Given the description of an element on the screen output the (x, y) to click on. 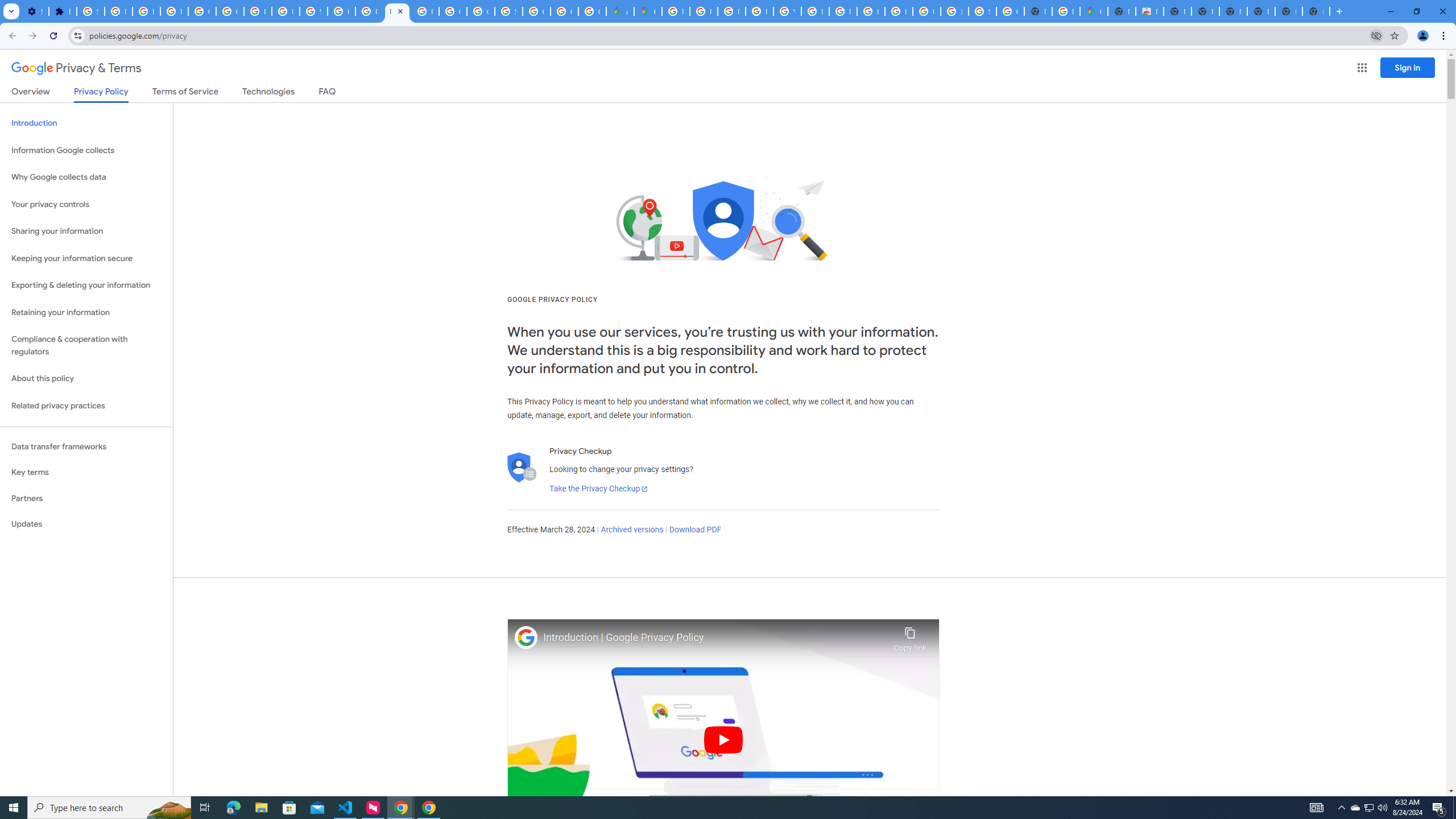
Google Account Help (202, 11)
Sign in - Google Accounts (982, 11)
Copy link (909, 636)
Play (723, 739)
Partners (86, 497)
Browse Chrome as a guest - Computer - Google Chrome Help (870, 11)
Google Account Help (229, 11)
Sign in - Google Accounts (508, 11)
